Given the description of an element on the screen output the (x, y) to click on. 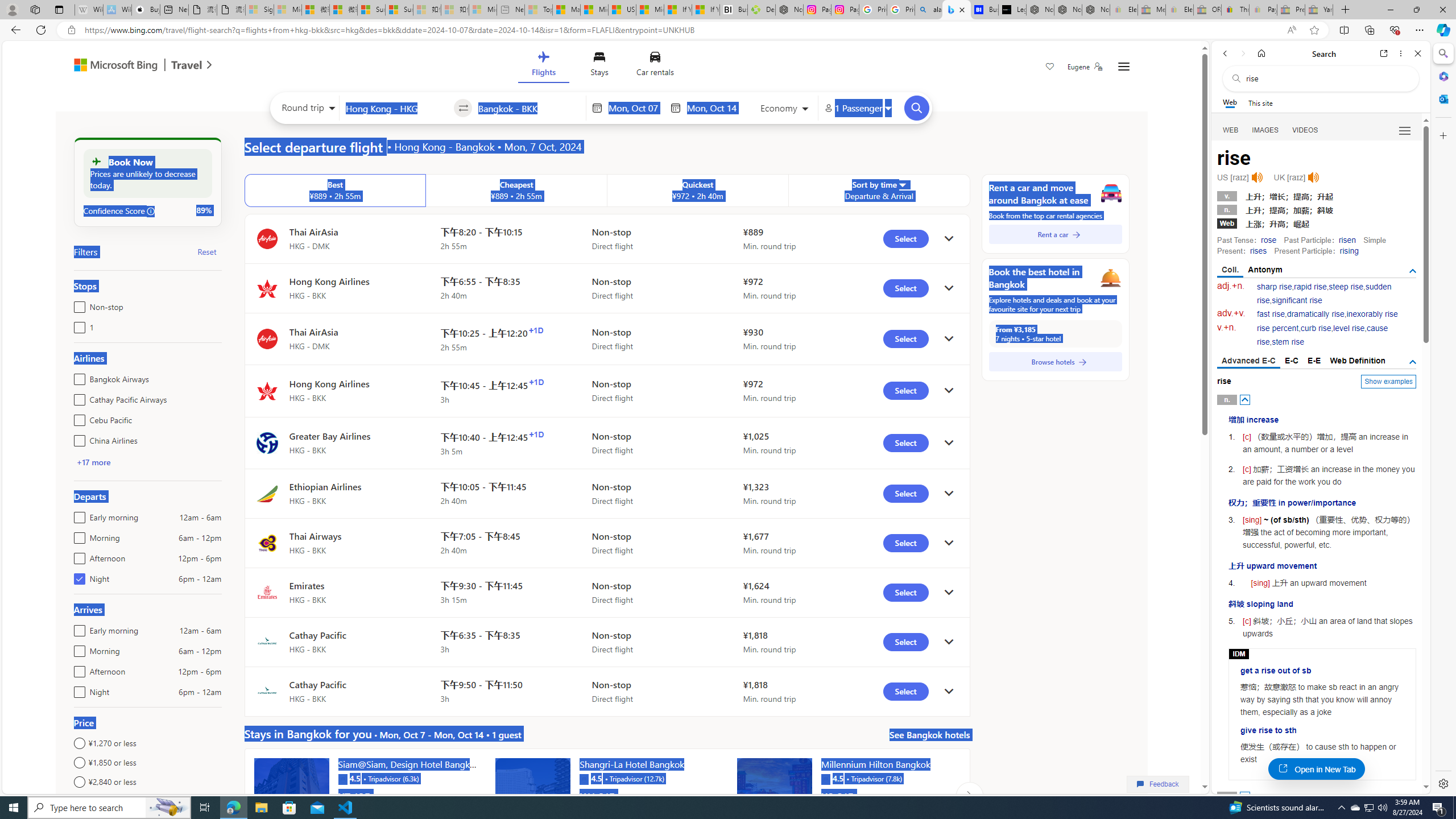
Sort by time Sorter Departure & Arrival (879, 190)
rises (1257, 250)
Morning6am - 12pm (76, 648)
Advanced E-C (1248, 361)
Eugene (1084, 66)
+17 more (92, 461)
rising (1348, 250)
